Given the description of an element on the screen output the (x, y) to click on. 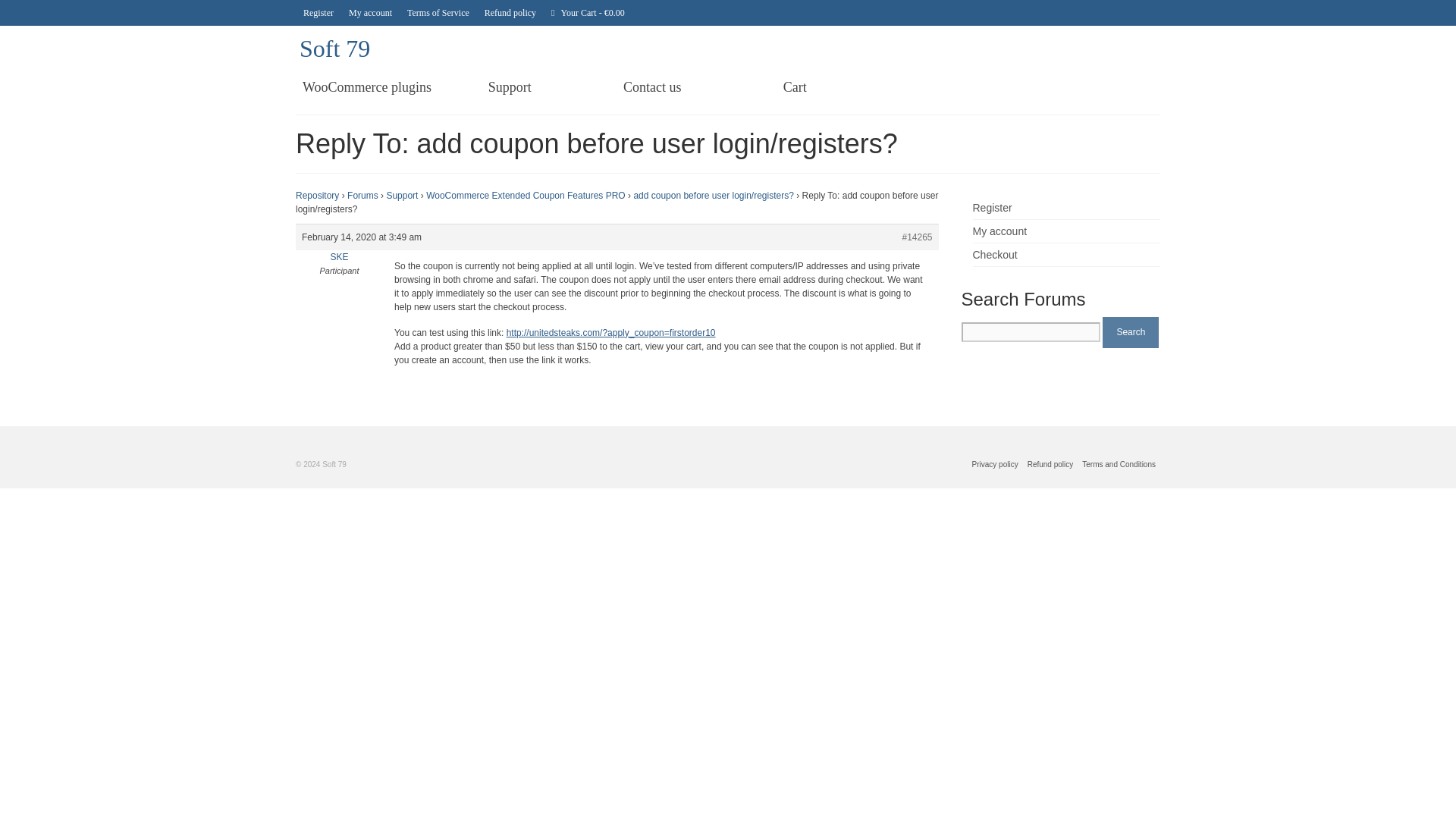
My account (369, 12)
Terms and Conditions (1118, 464)
View SKE's profile (338, 256)
Support (509, 87)
Support (401, 195)
Terms of Service (437, 12)
Soft 79 (334, 48)
SKE (338, 256)
Register (991, 207)
Refund policy (1050, 464)
